Given the description of an element on the screen output the (x, y) to click on. 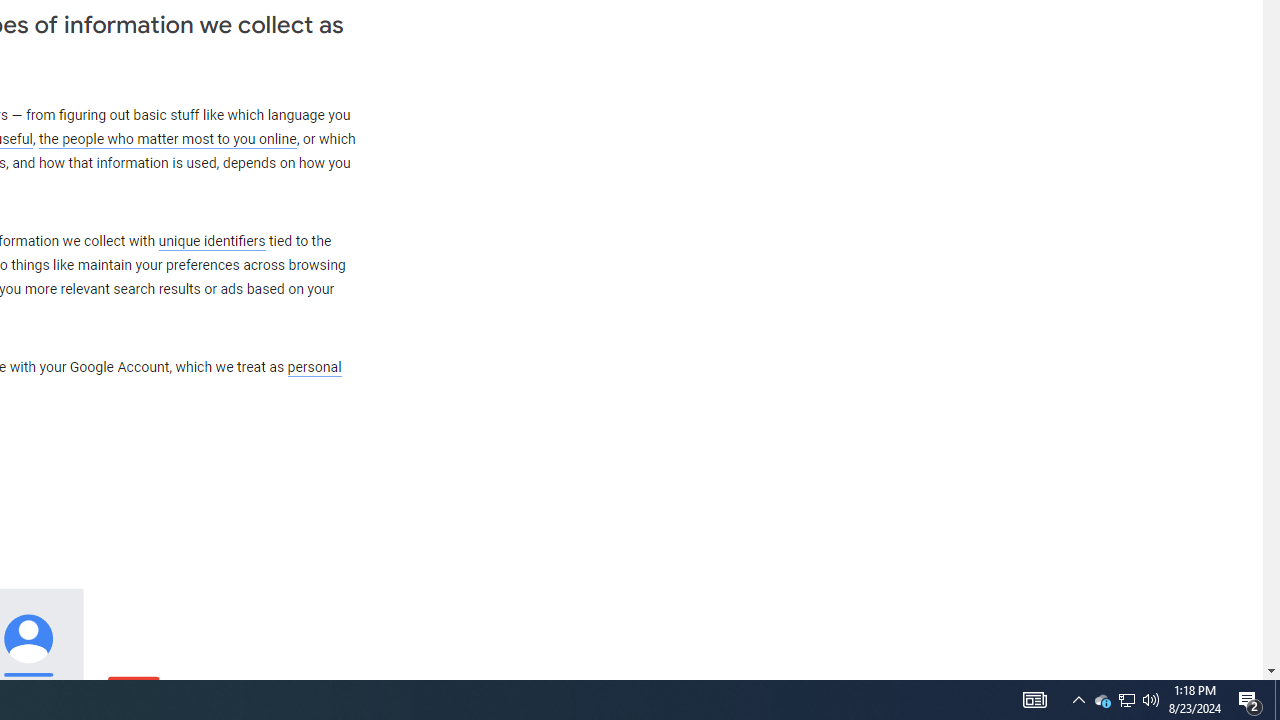
the people who matter most to you online (167, 139)
unique identifiers (211, 241)
